Given the description of an element on the screen output the (x, y) to click on. 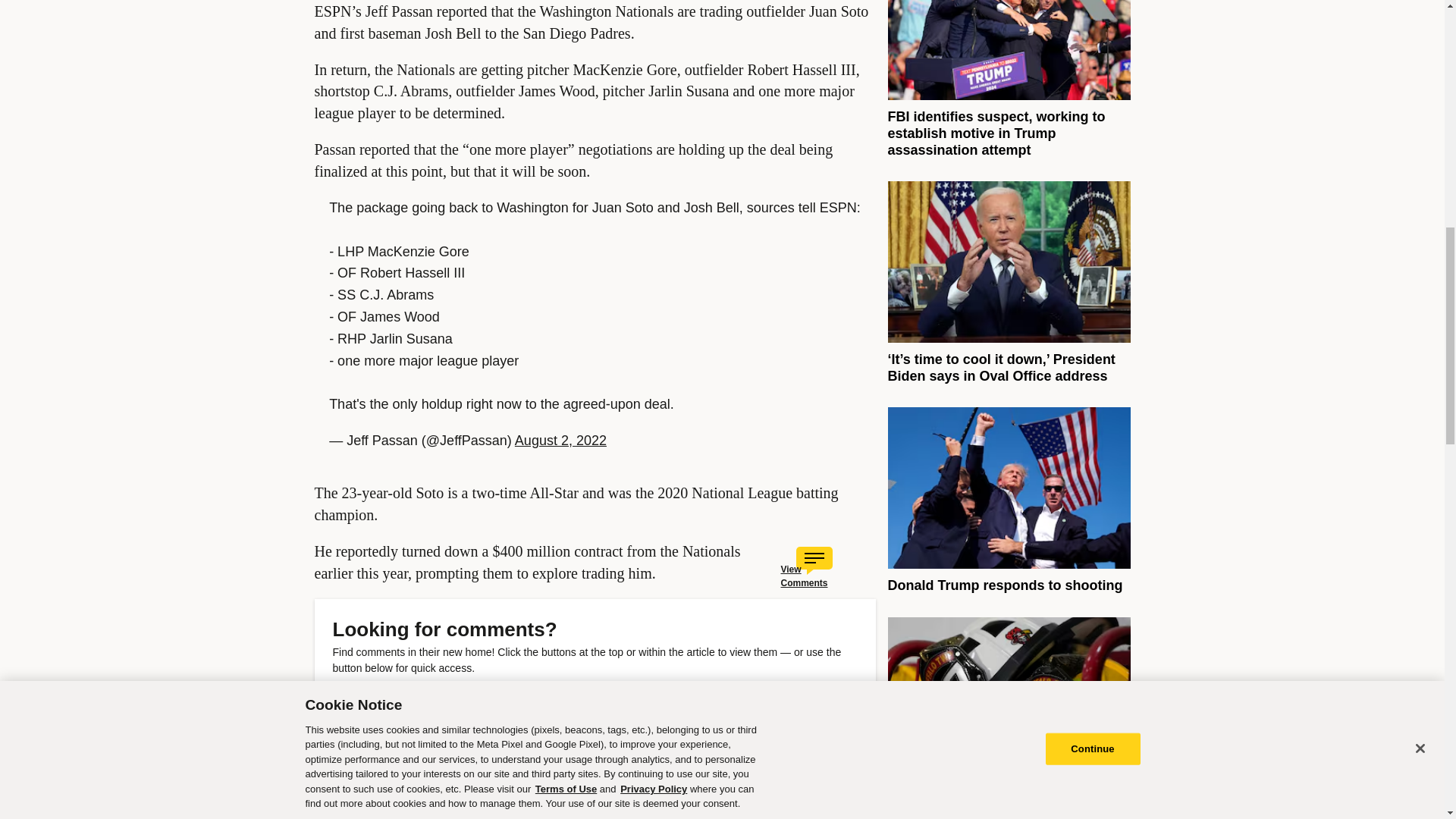
VIEW COMMENTS (418, 702)
Donald Trump responds to shooting (1004, 585)
August 2, 2022 (561, 440)
